Given the description of an element on the screen output the (x, y) to click on. 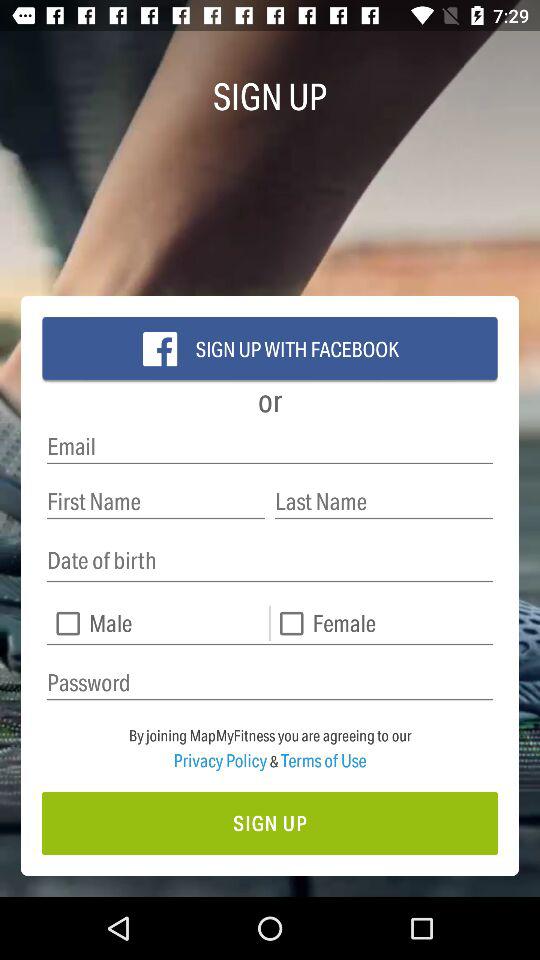
enter email address (270, 446)
